Given the description of an element on the screen output the (x, y) to click on. 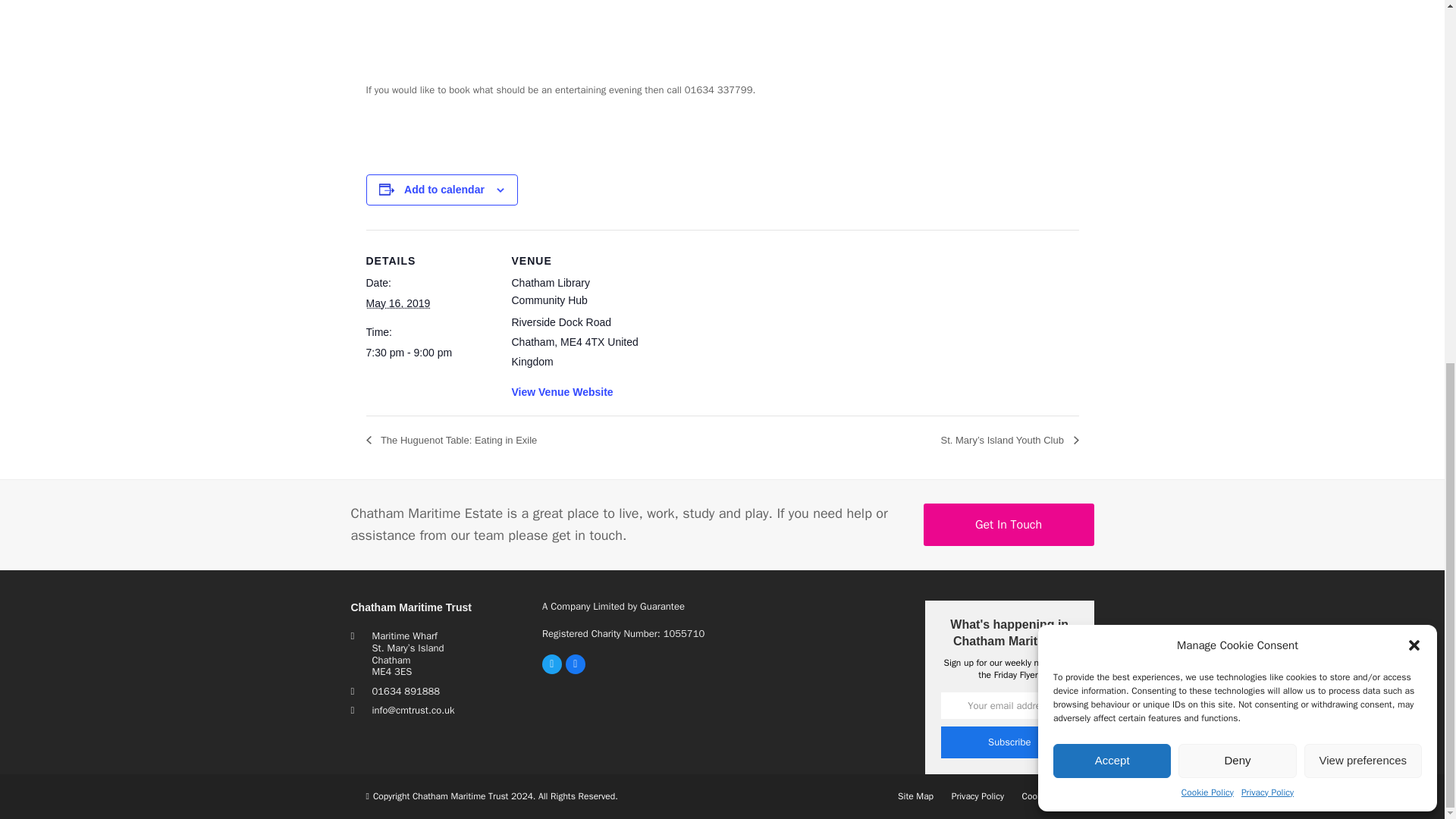
Deny (1236, 112)
Twitter (551, 664)
Privacy Policy (1267, 145)
2019-05-16 (397, 303)
2019-05-16 (429, 352)
Cookie Policy (1206, 145)
Facebook (575, 664)
View preferences (1363, 112)
Accept (1111, 112)
